Given the description of an element on the screen output the (x, y) to click on. 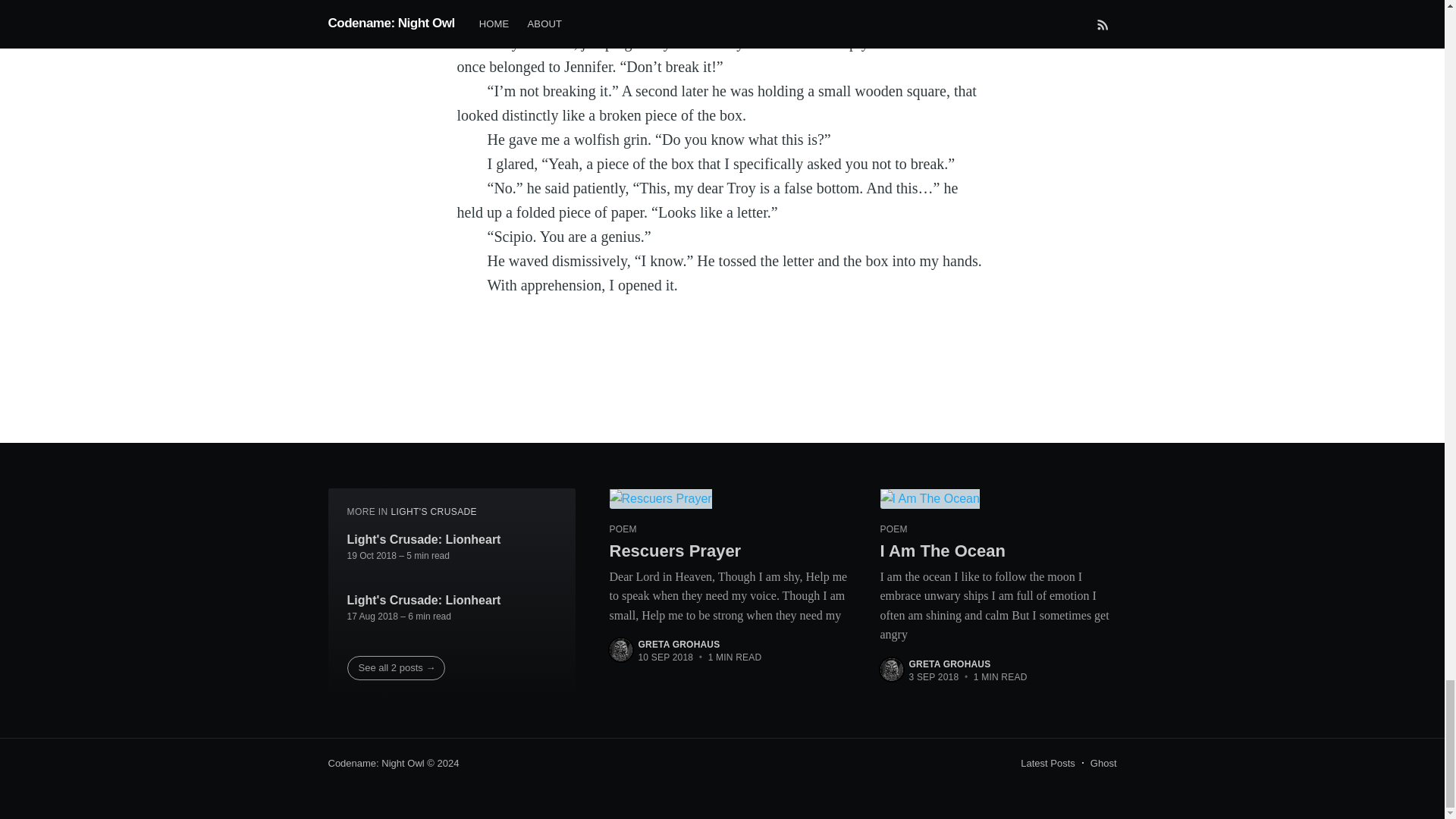
Ghost (1103, 763)
LIGHT'S CRUSADE (433, 511)
Light's Crusade: Lionheart (423, 539)
GRETA GROHAUS (949, 664)
Light's Crusade: Lionheart (423, 600)
Codename: Night Owl (375, 763)
Latest Posts (1047, 763)
GRETA GROHAUS (679, 644)
